Given the description of an element on the screen output the (x, y) to click on. 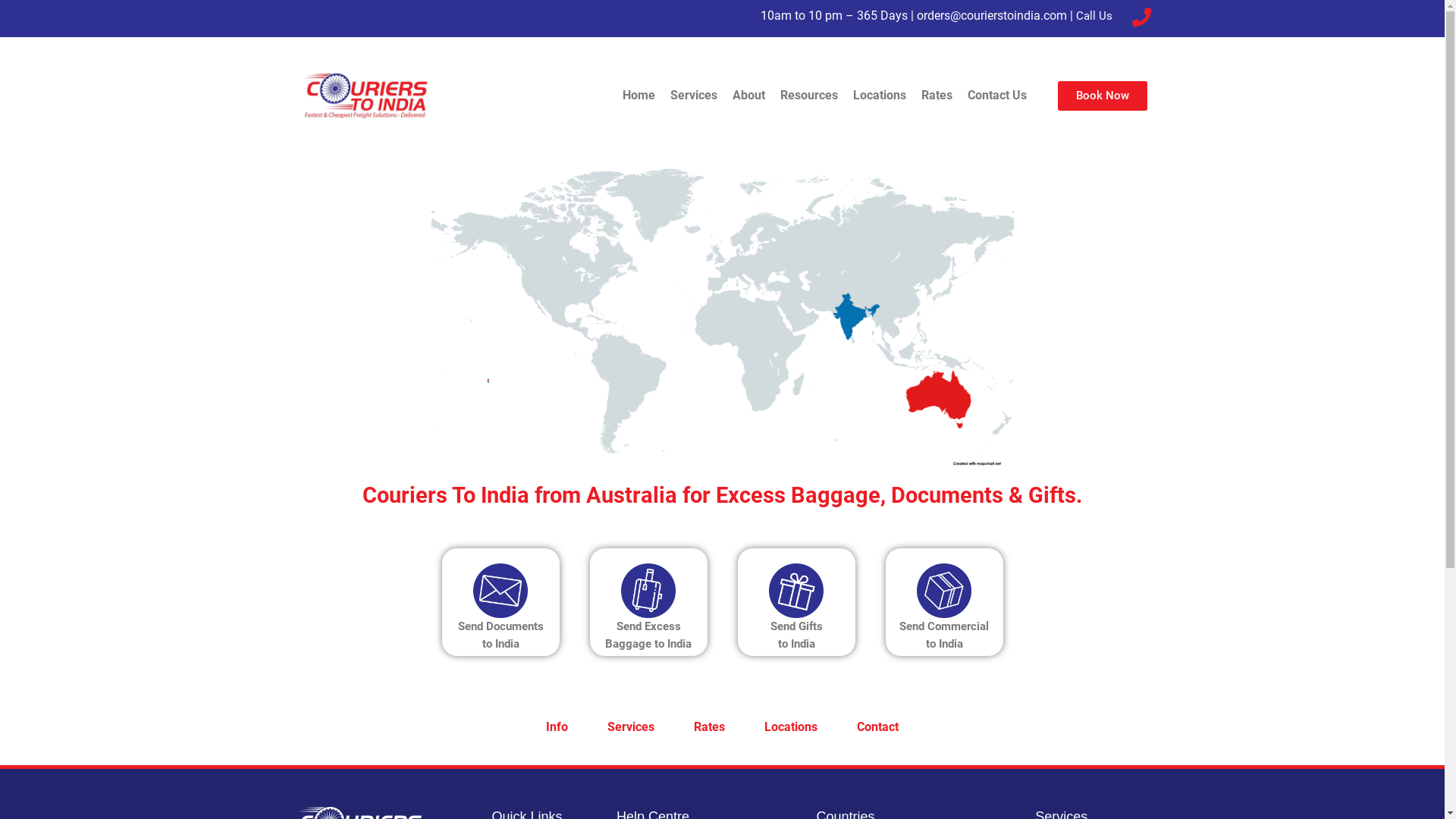
Call Us Element type: text (1094, 15)
Resources Element type: text (808, 95)
About Element type: text (748, 95)
orders@courierstoindia.com Element type: text (991, 15)
Home Element type: text (638, 95)
Contact Us Element type: text (997, 95)
Book Now Element type: text (1102, 95)
Services Element type: text (693, 95)
Locations Element type: text (879, 95)
Rates Element type: text (936, 95)
